Given the description of an element on the screen output the (x, y) to click on. 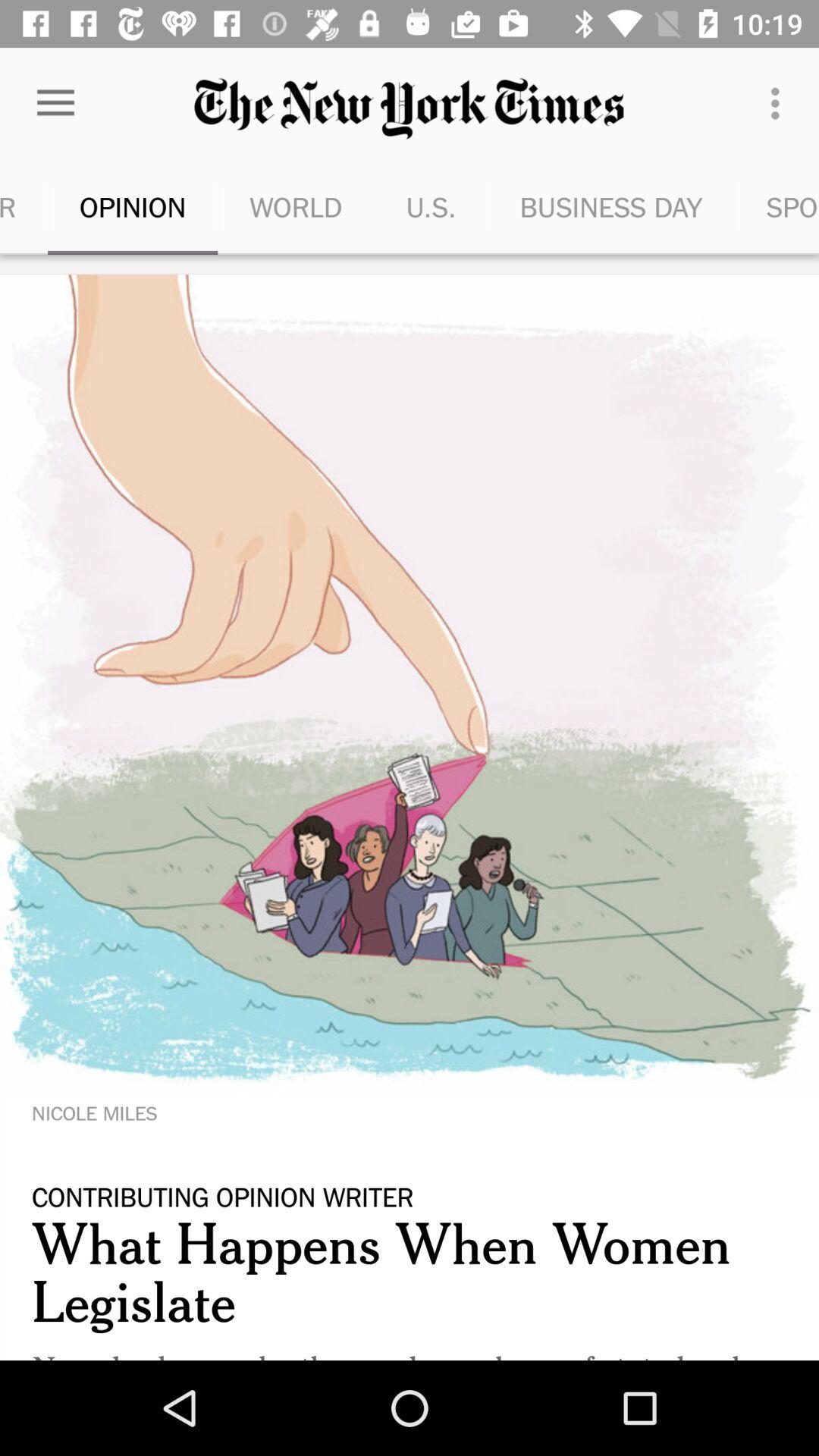
select item above the business day icon (779, 103)
